Given the description of an element on the screen output the (x, y) to click on. 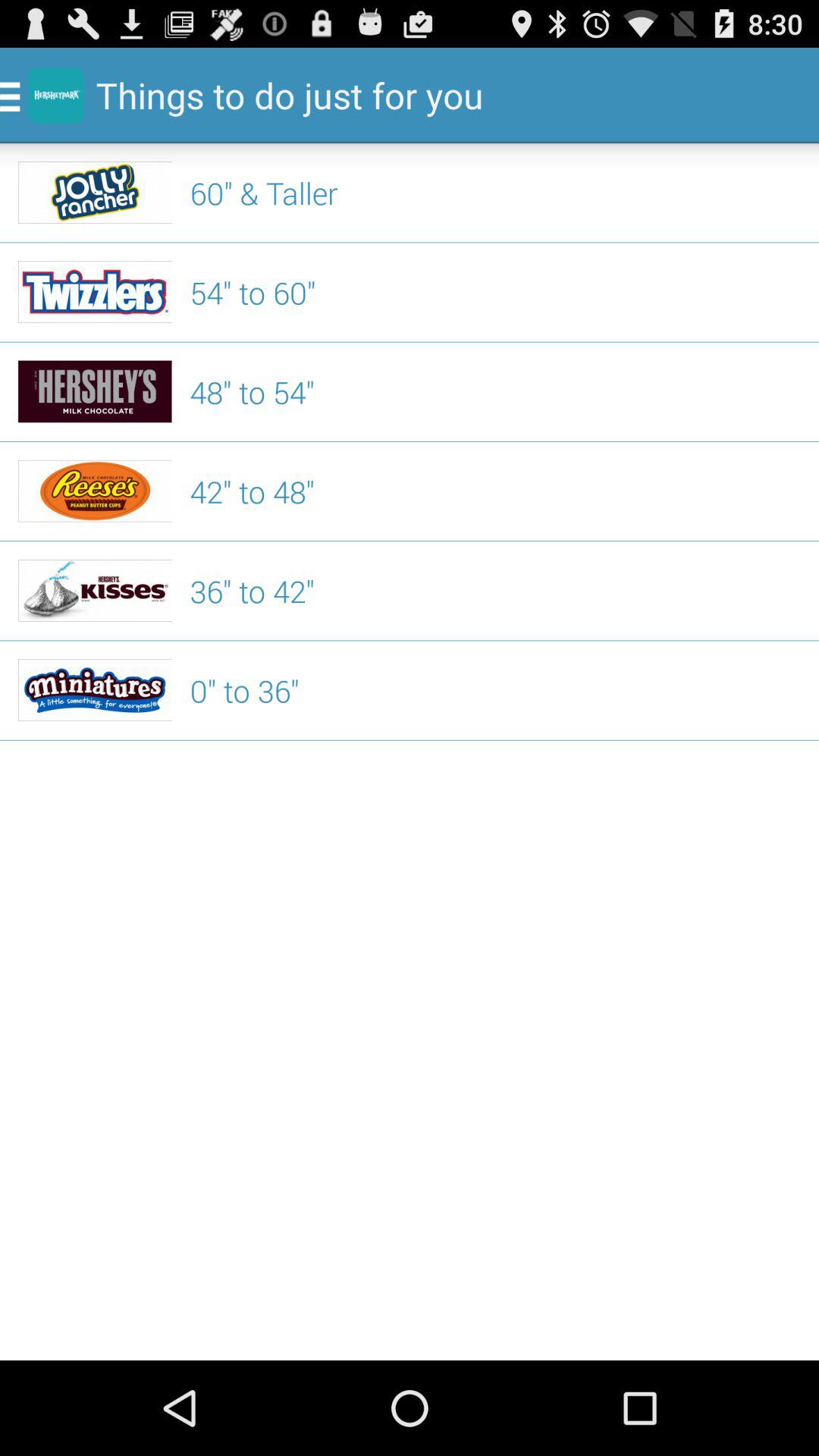
turn off the 60" & taller icon (494, 192)
